Given the description of an element on the screen output the (x, y) to click on. 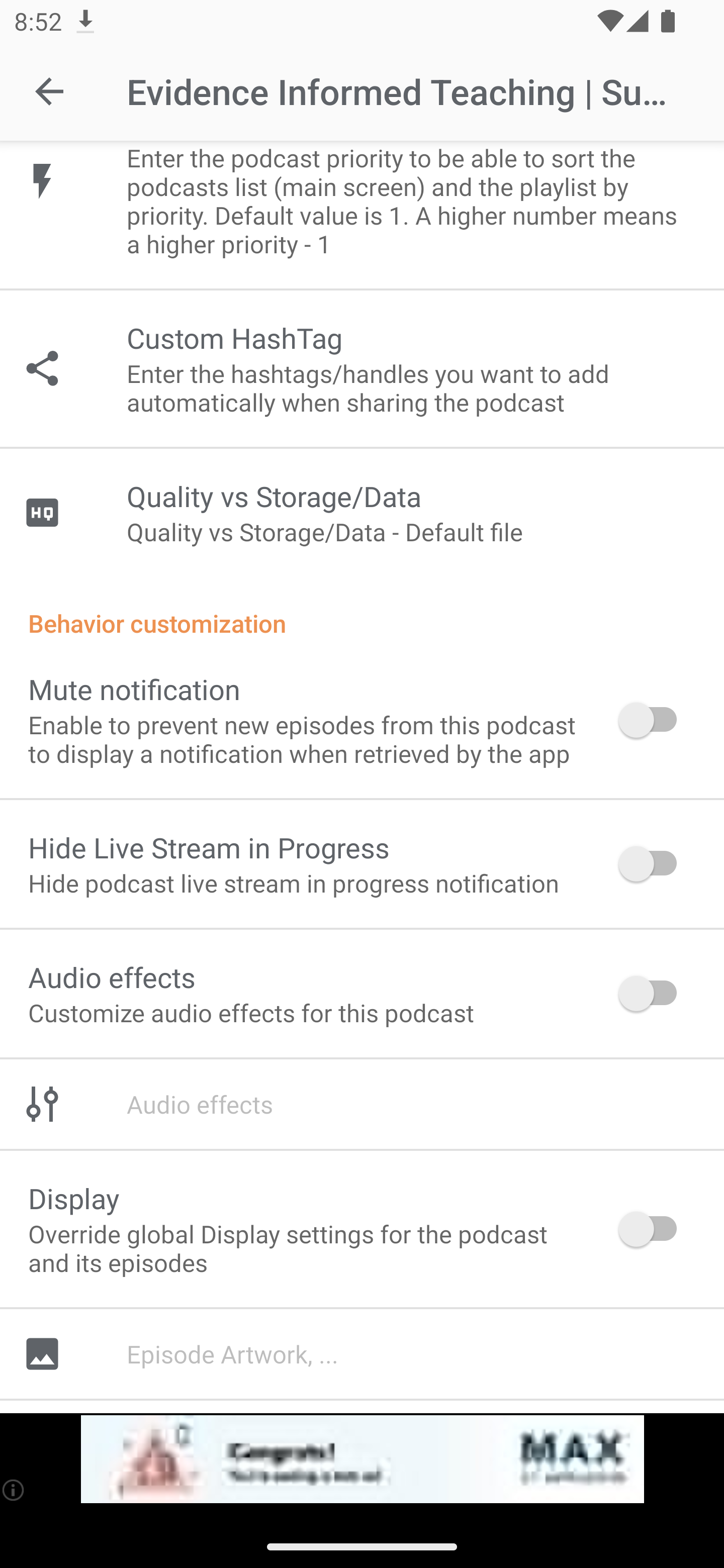
Navigate up (49, 91)
Audio effects (362, 1104)
Episode Artwork, ... (362, 1353)
app-monetization (362, 1459)
(i) (14, 1489)
